Given the description of an element on the screen output the (x, y) to click on. 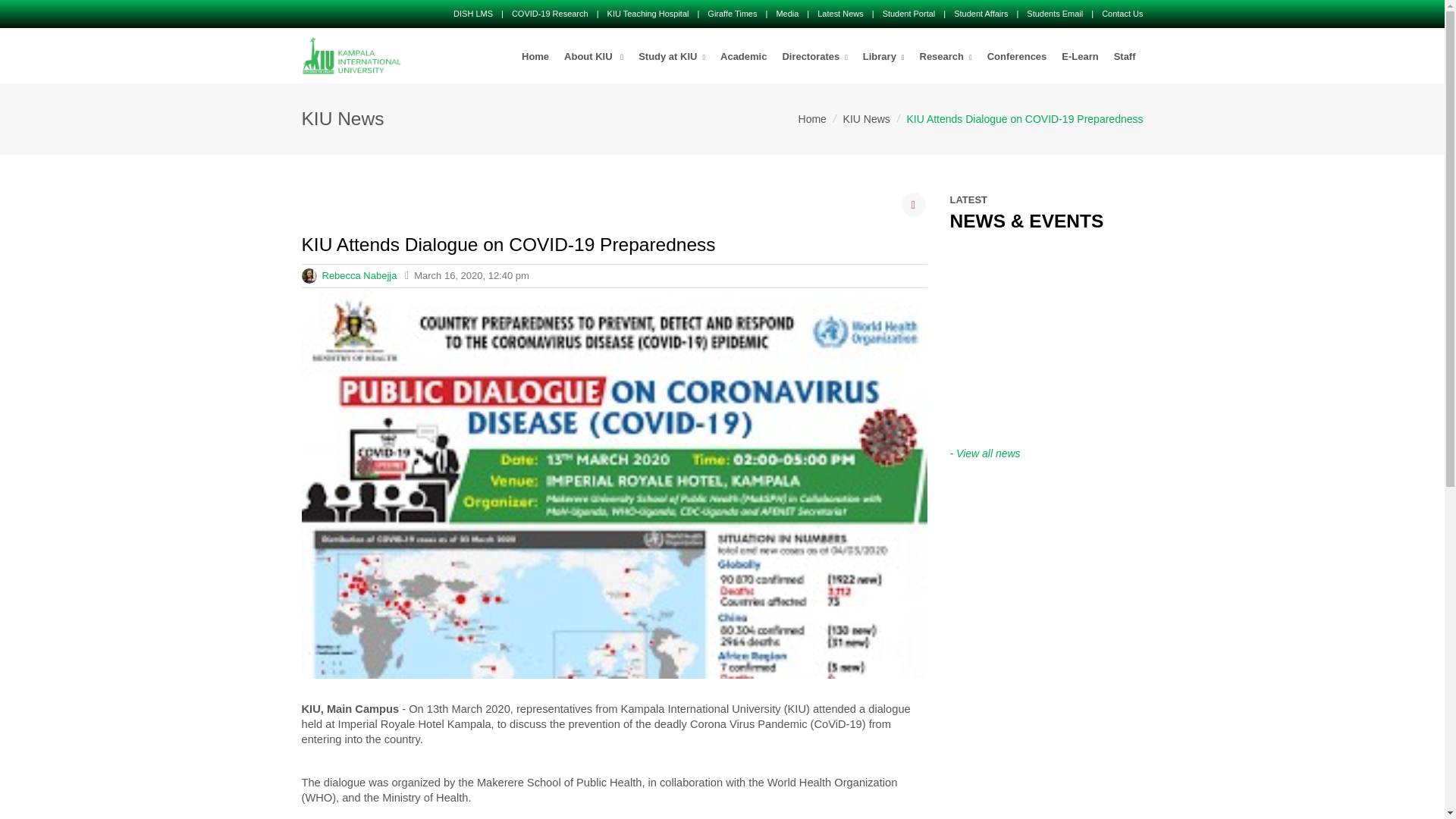
Student Affairs (980, 13)
About KIU (593, 57)
Giraffe Times (732, 13)
DISH LMS (472, 13)
Contact Us (1122, 13)
Student Portal (909, 13)
Media (786, 13)
Directorates (814, 57)
KIU Teaching Hospital (647, 13)
COVID-19 Research (550, 13)
